Given the description of an element on the screen output the (x, y) to click on. 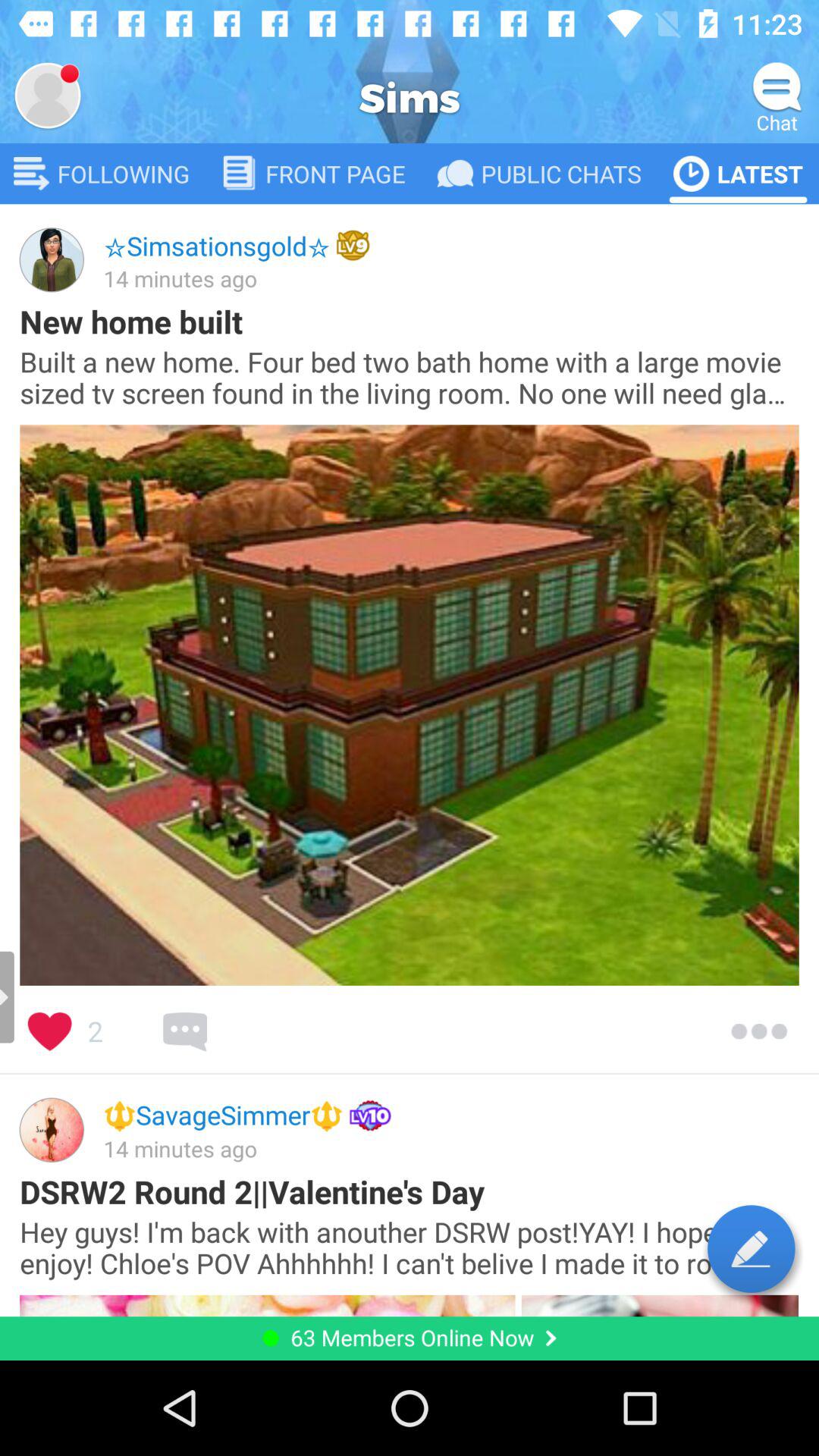
compose a post (751, 1248)
